Given the description of an element on the screen output the (x, y) to click on. 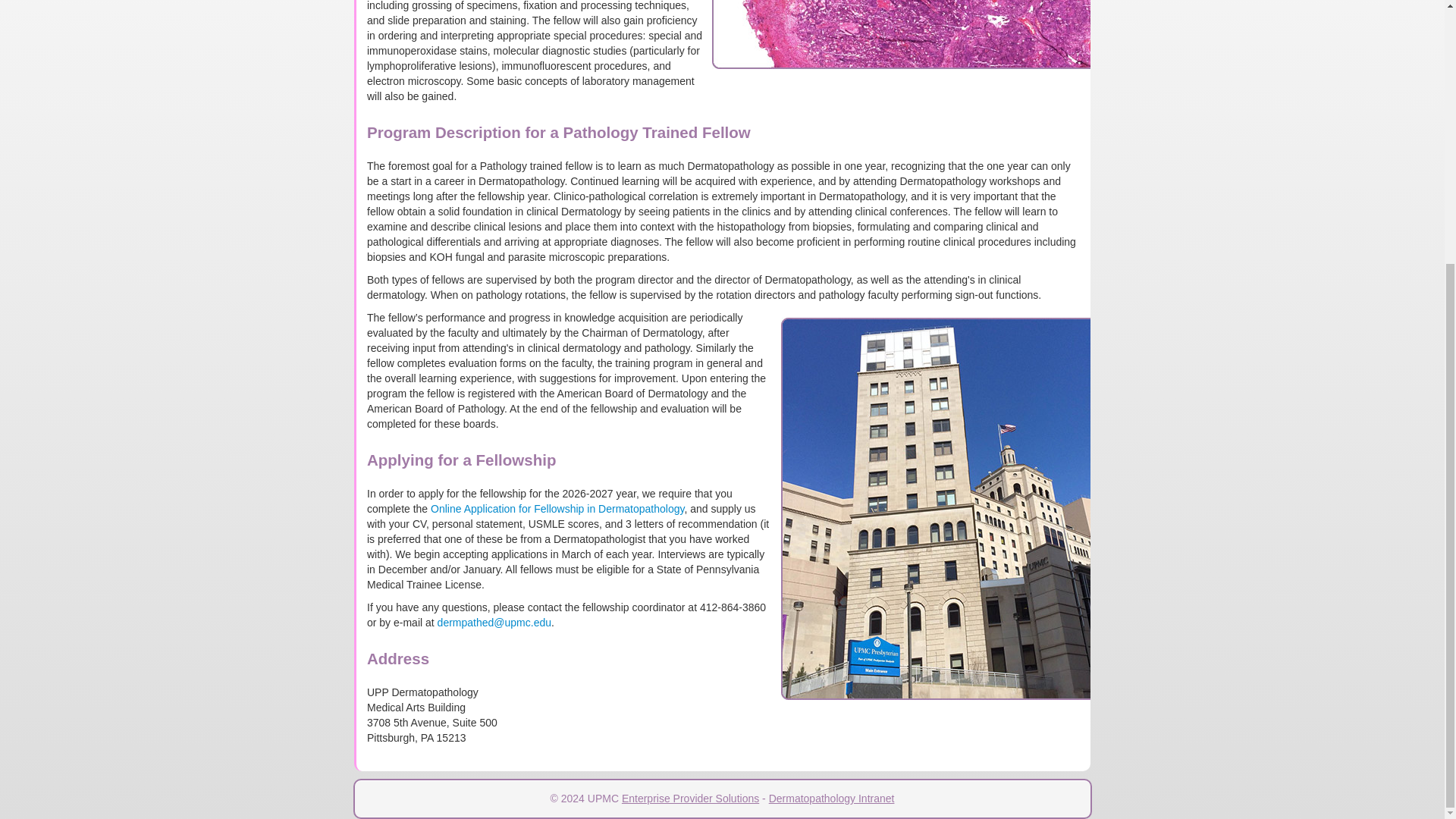
Dermatopathology Intranet (831, 798)
Enterprise Provider Solutions (689, 798)
Online Application for Fellowship in Dermatopathology (557, 508)
